Given the description of an element on the screen output the (x, y) to click on. 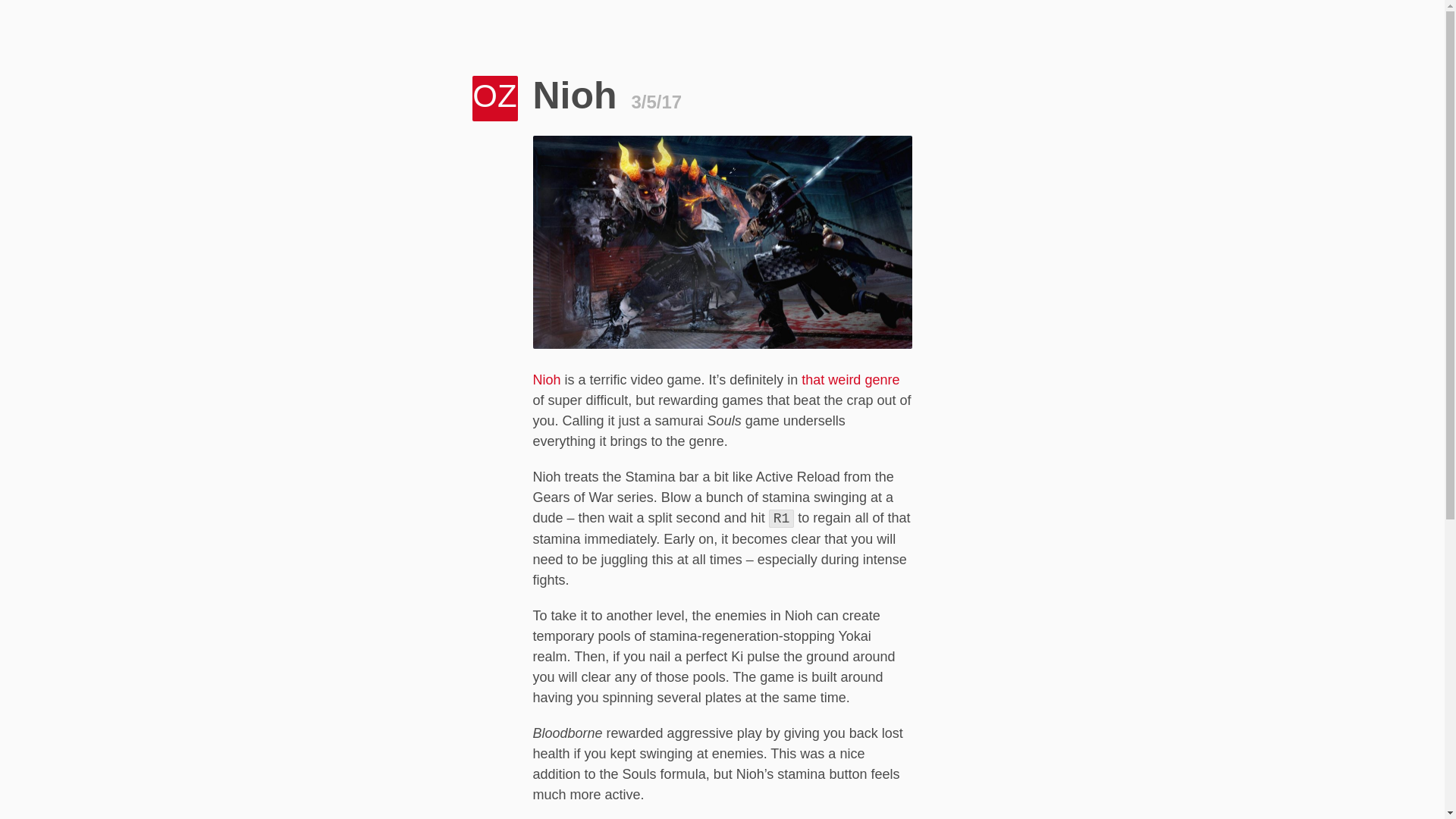
Nioh (546, 379)
Obsession Zone (493, 98)
that weird genre (850, 379)
OZ (493, 98)
